Given the description of an element on the screen output the (x, y) to click on. 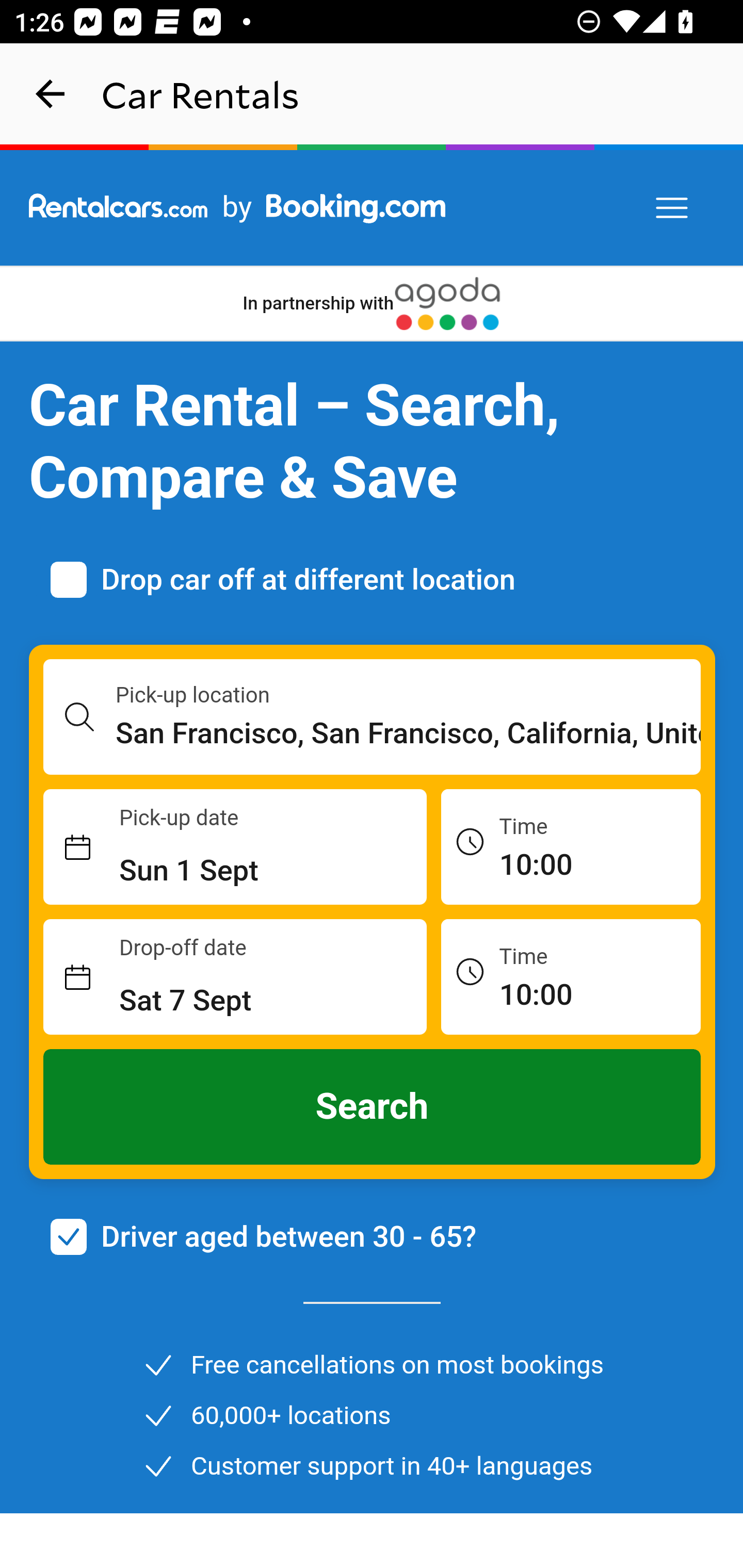
navigation_button (50, 93)
Menu (672, 208)
Pick-up date Sun 1 Sept (235, 847)
10:00 (571, 845)
Drop-off date Sat 7 Sept (235, 977)
10:00 (571, 975)
Search (372, 1106)
